Given the description of an element on the screen output the (x, y) to click on. 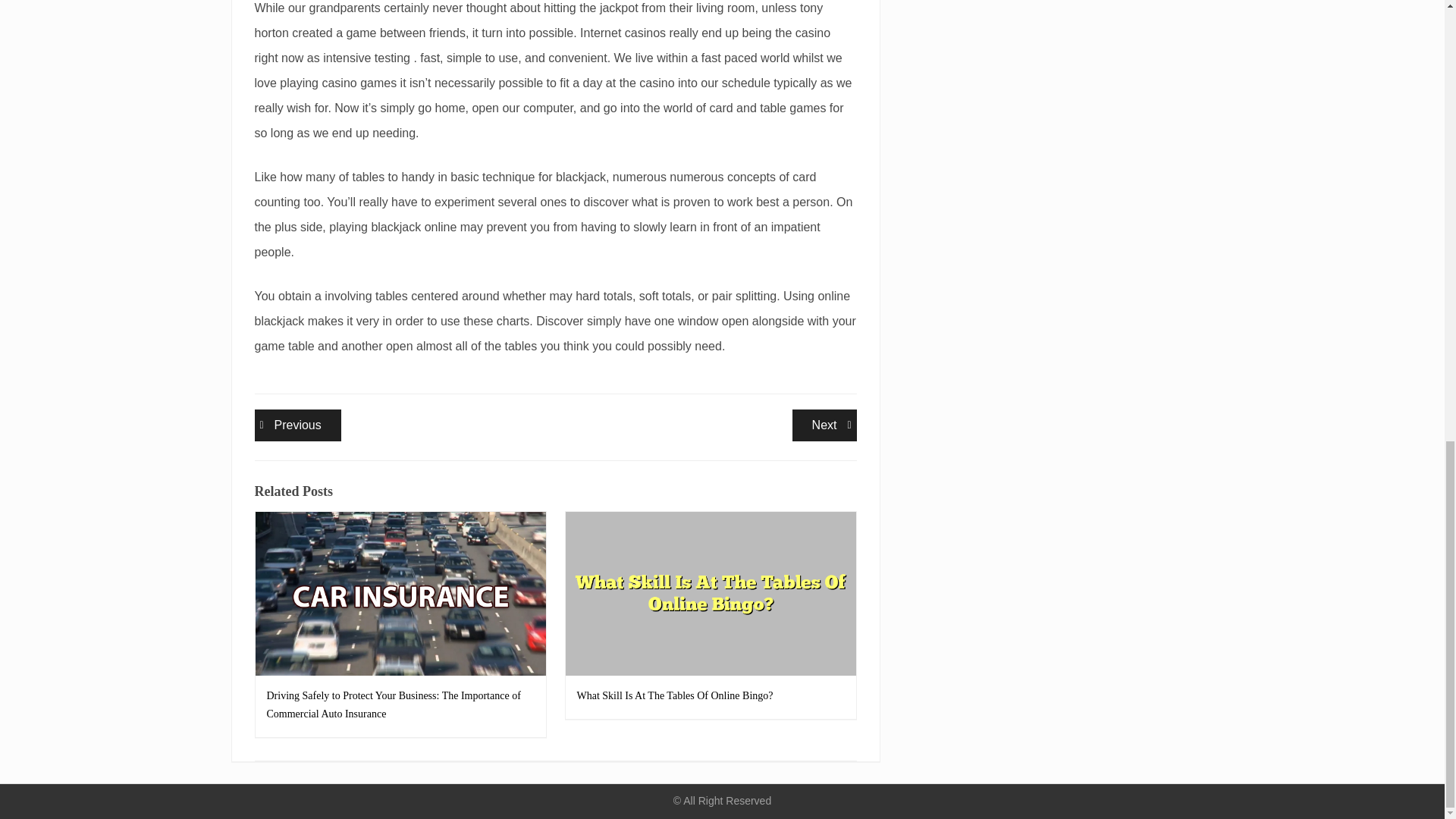
What Skill Is At The Tables Of Online Bingo? (297, 425)
